Given the description of an element on the screen output the (x, y) to click on. 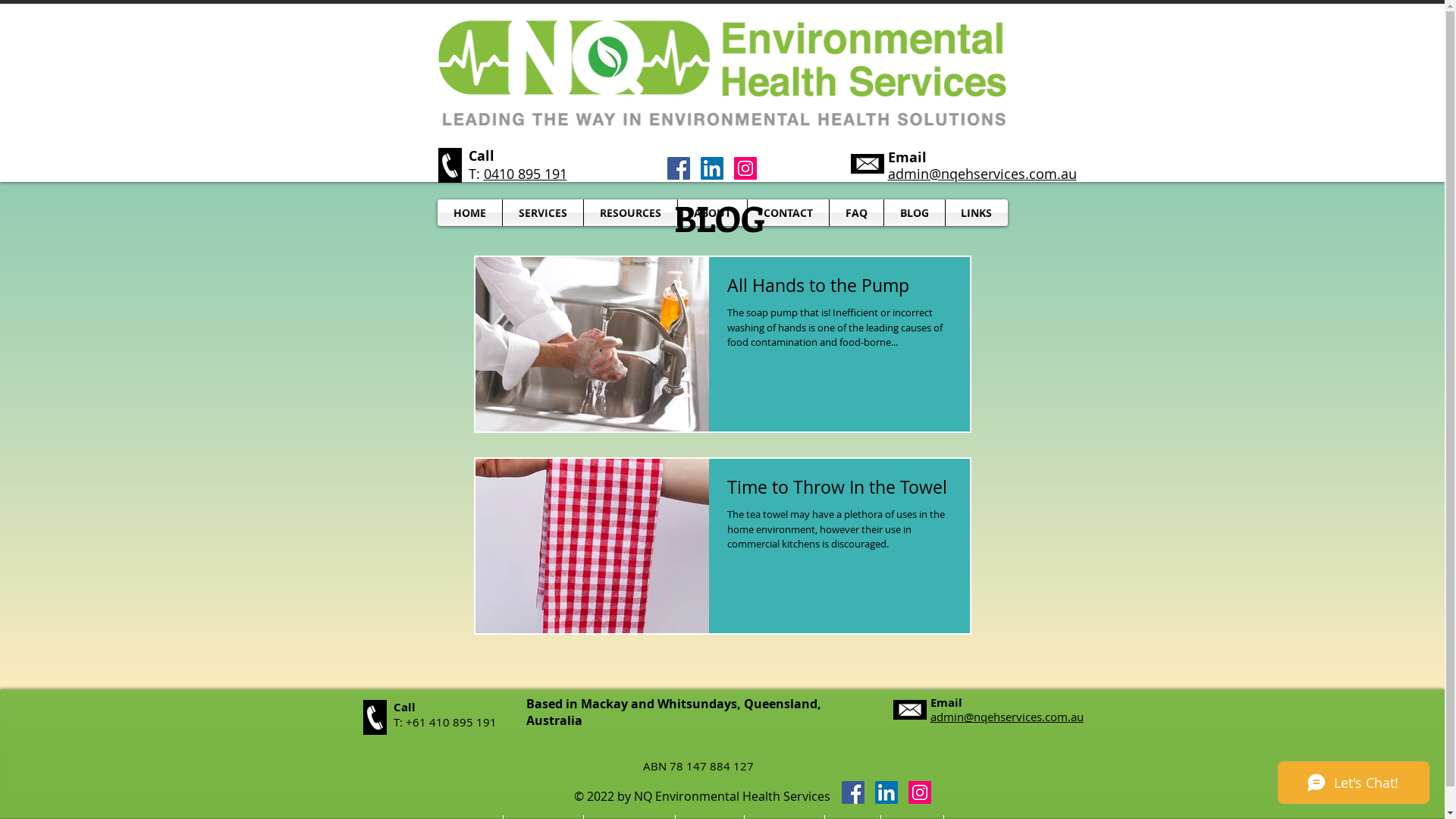
BLOG Element type: text (914, 212)
SERVICES Element type: text (542, 212)
Time to Throw In the Towel Element type: text (838, 491)
CONTACT Element type: text (787, 212)
0410 895 191 Element type: text (525, 173)
HOME Element type: text (468, 212)
RESOURCES Element type: text (630, 212)
admin@nqehservices.com.au Element type: text (981, 173)
FAQ Element type: text (856, 212)
LINKS Element type: text (975, 212)
Embedded Content Element type: hover (729, 451)
Embedded Content Element type: hover (722, 617)
ABOUT Element type: text (711, 212)
admin@nqehservices.com.au Element type: text (1005, 716)
All Hands to the Pump Element type: text (838, 290)
